Given the description of an element on the screen output the (x, y) to click on. 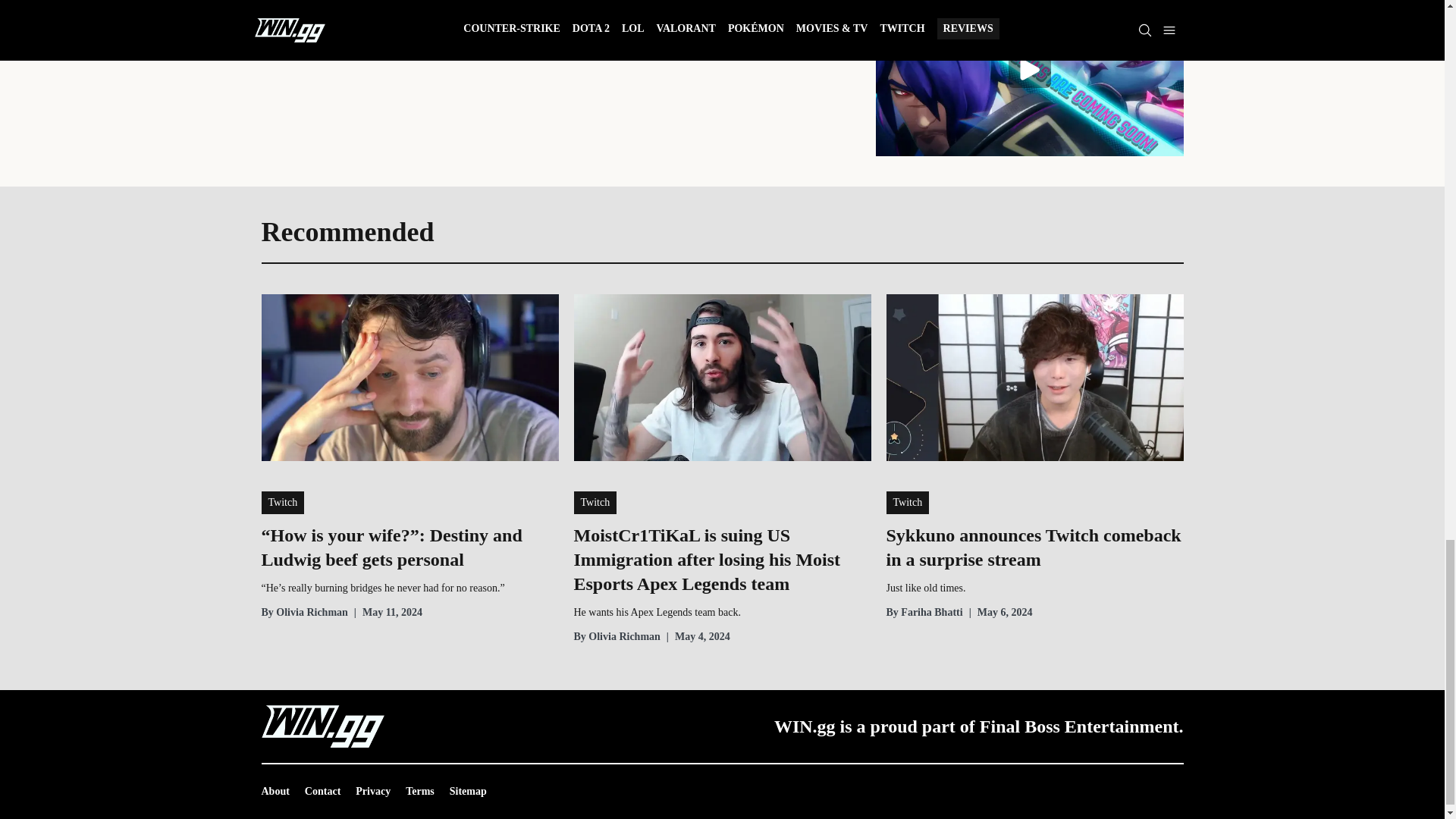
By Olivia Richman (303, 612)
Twitch (282, 502)
